Given the description of an element on the screen output the (x, y) to click on. 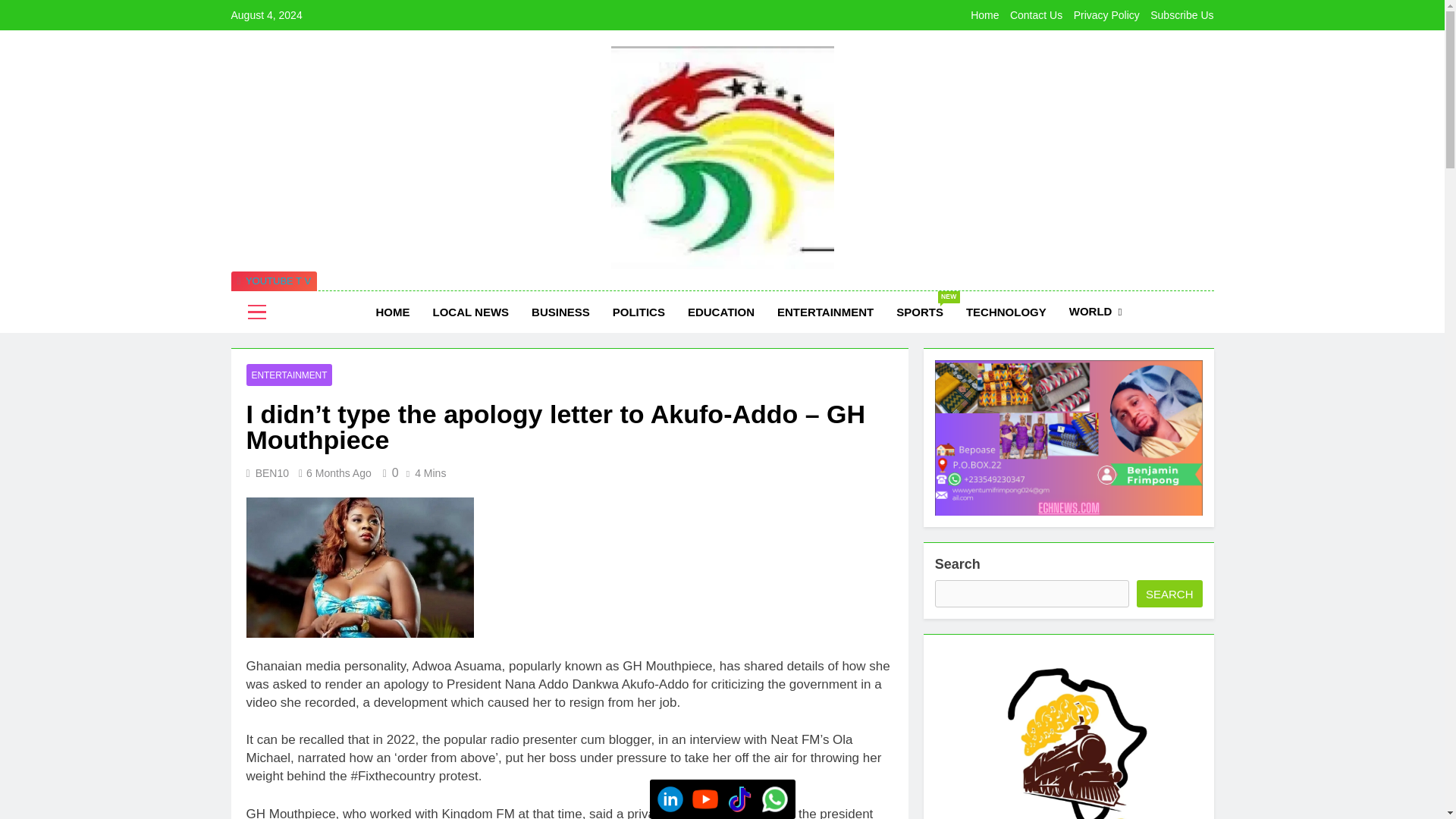
BUSINESS (560, 311)
WORLD (1096, 311)
YOUTUBE T V (273, 281)
POLITICS (639, 311)
Subscribe Us (1181, 15)
Eghnews (545, 290)
TECHNOLOGY (1006, 311)
LinkedIn (670, 798)
WhatsApp (775, 798)
ENTERTAINMENT (825, 311)
Contact Us (920, 311)
TikTok (1036, 15)
YouTube (740, 798)
LOCAL NEWS (705, 798)
